Given the description of an element on the screen output the (x, y) to click on. 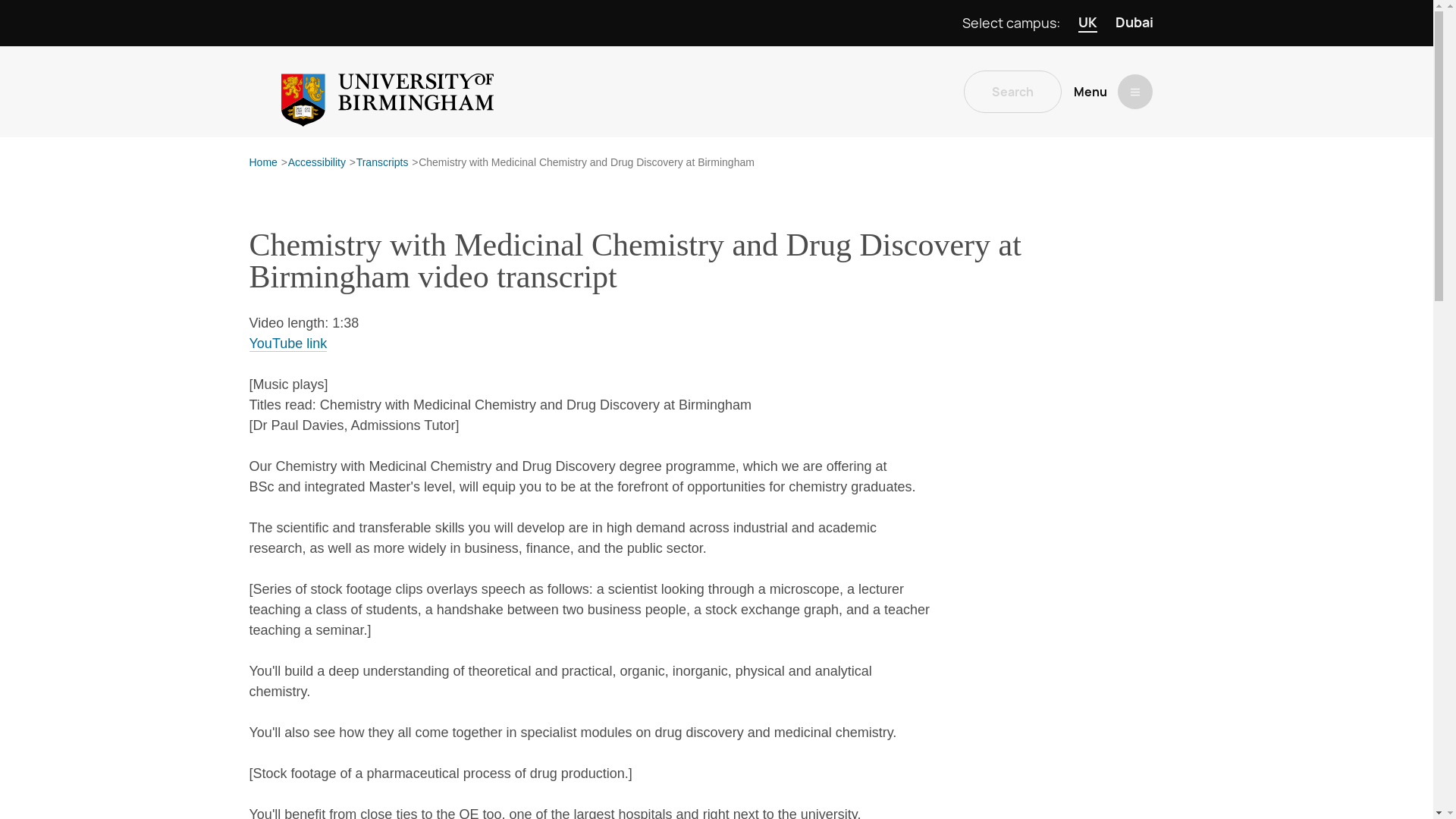
Dubai (1134, 23)
YouTube link (287, 343)
Accessibility (317, 163)
UK (1087, 23)
Home (262, 163)
Transcripts (382, 163)
Search (1012, 91)
